Given the description of an element on the screen output the (x, y) to click on. 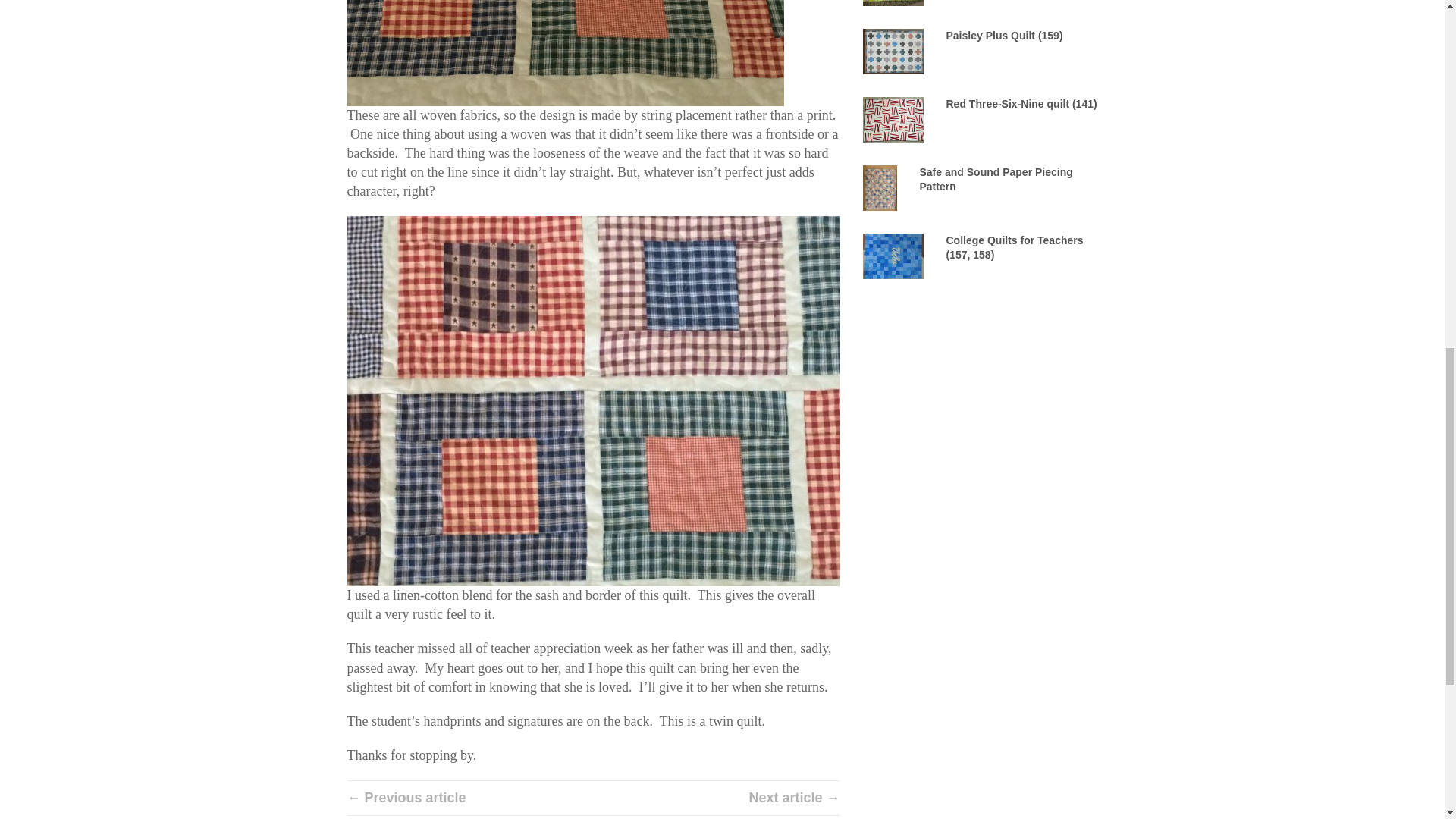
Soul Candy (893, 1)
Safe and Sound Paper Piecing Pattern (994, 179)
